Given the description of an element on the screen output the (x, y) to click on. 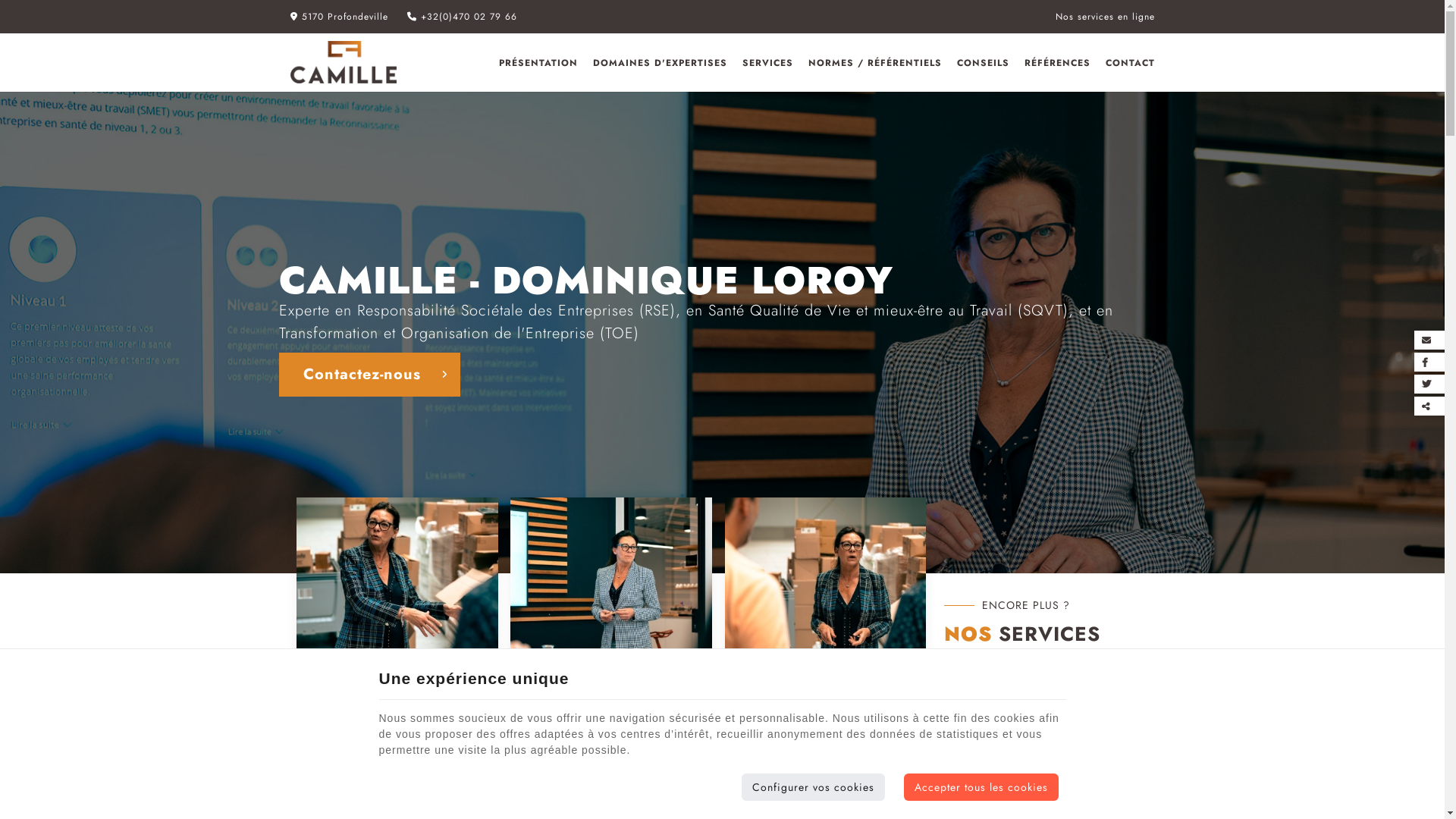
Partager ce contenu Element type: text (1433, 405)
Nos services en ligne Element type: text (1104, 16)
Audit interne de votre entreprise en Wallonie Element type: hover (825, 596)
+32(0)470 02 79 66 Element type: text (461, 16)
Camille Loroy Element type: hover (342, 61)
Contactez-nous Element type: text (369, 373)
CONTACT Element type: text (1126, 62)
Conseil et accompagnement aux certifications Element type: hover (397, 596)
DOMAINES D'EXPERTISES Element type: text (659, 62)
Audit interne de votre entreprise en Wallonie Element type: text (825, 737)
5170 Profondeville Element type: text (338, 16)
Accepter tous les cookies Element type: text (980, 786)
Tous nos services Element type: text (1031, 726)
CONSEILS Element type: text (982, 62)
Configurer vos cookies Element type: text (812, 786)
SERVICES Element type: text (767, 62)
Conseil et accompagnement aux certifications Element type: text (396, 737)
